Given the description of an element on the screen output the (x, y) to click on. 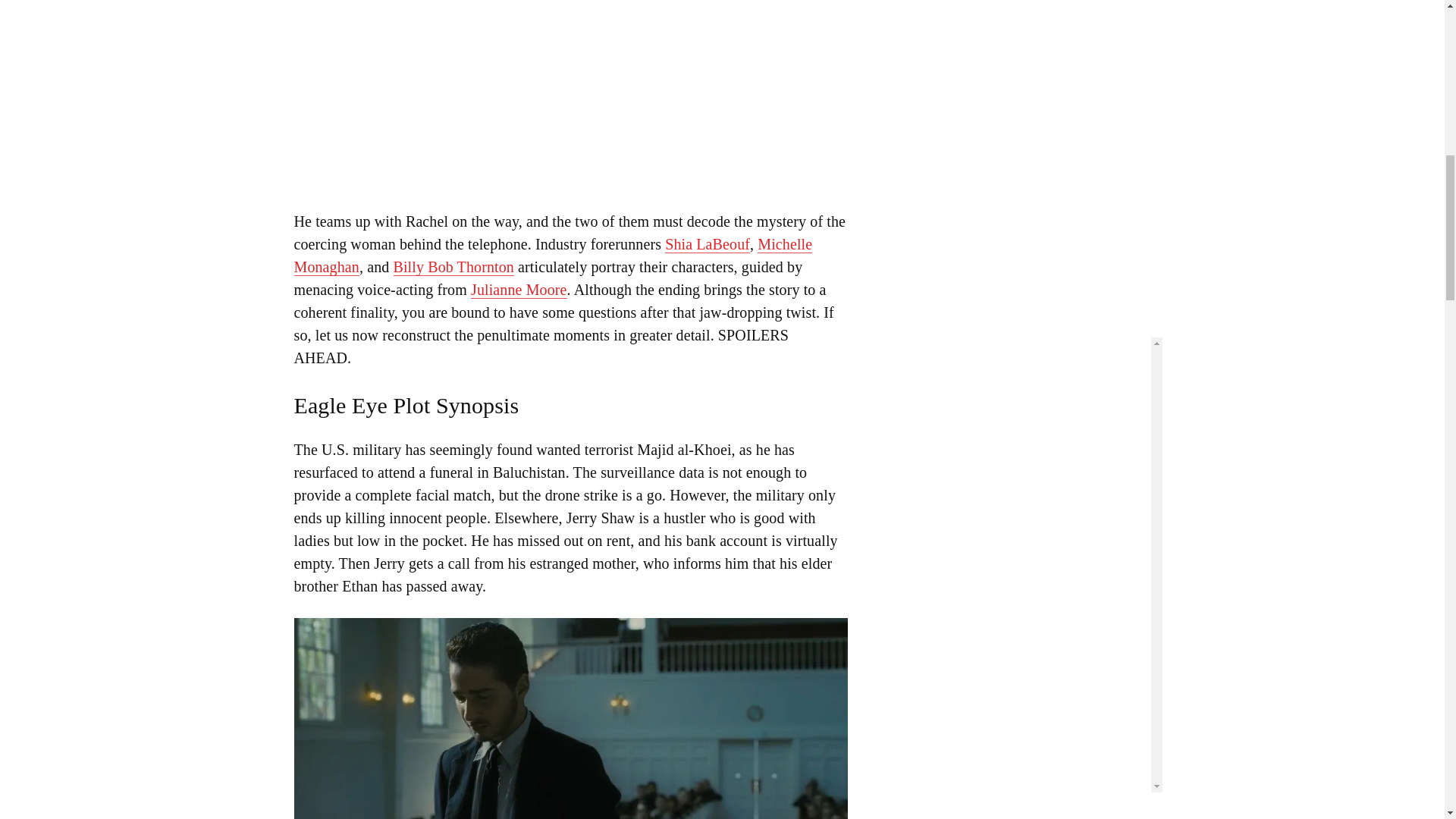
Michelle Monaghan (553, 255)
Shia LaBeouf (707, 244)
Julianne Moore (518, 289)
Billy Bob Thornton (453, 267)
